Given the description of an element on the screen output the (x, y) to click on. 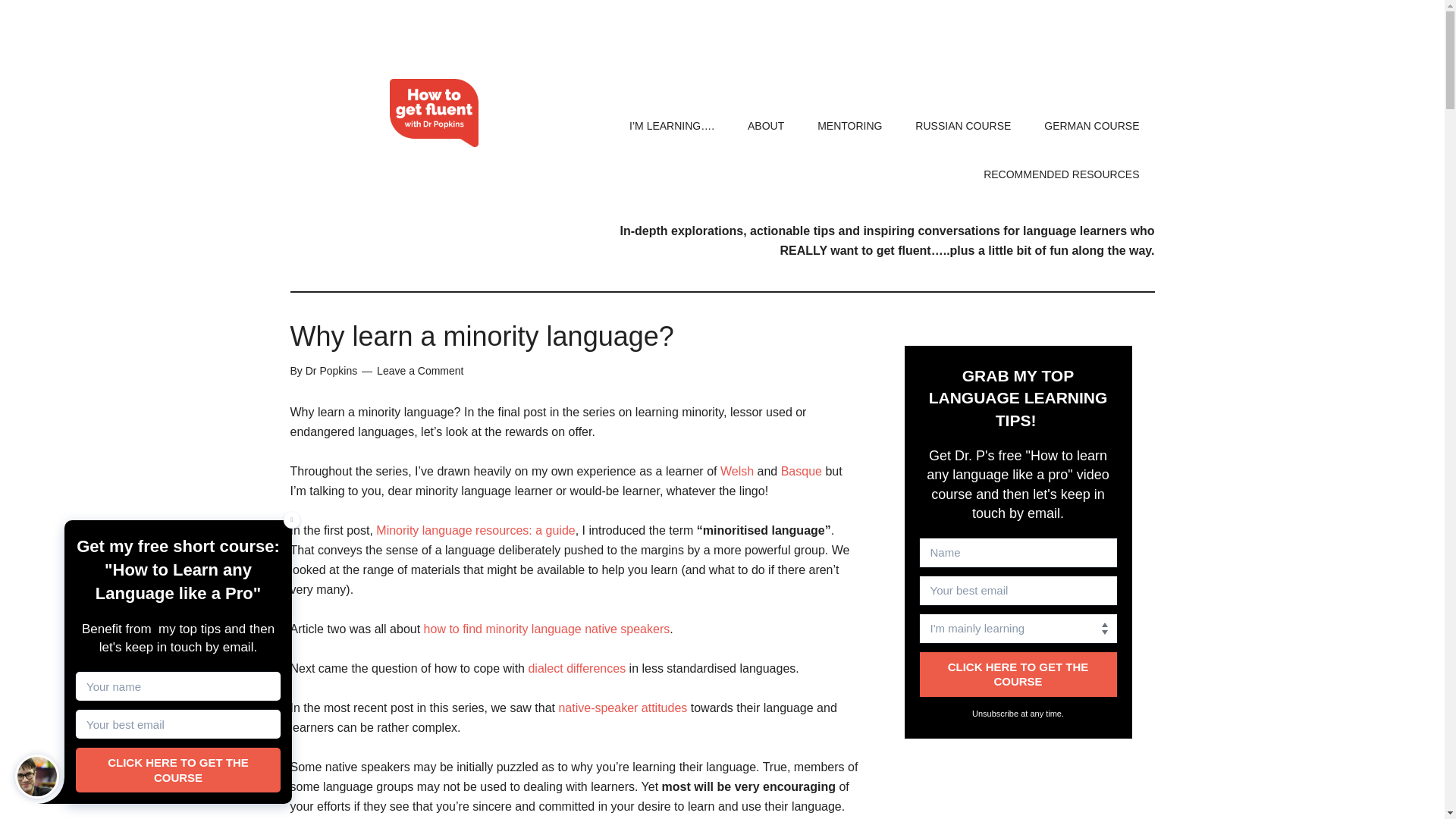
Basque (801, 471)
RUSSIAN COURSE (962, 125)
Welsh (737, 471)
ABOUT (765, 125)
GERMAN COURSE (1091, 125)
how to find minority language native speakers (546, 628)
native-speaker attitudes (622, 707)
How to get fluent, with Dr Popkins (433, 112)
dialect differences (576, 667)
Leave a Comment (420, 370)
Dr Popkins (330, 370)
RECOMMENDED RESOURCES (1061, 174)
MENTORING (849, 125)
Minority language resources: a guide (475, 530)
